Given the description of an element on the screen output the (x, y) to click on. 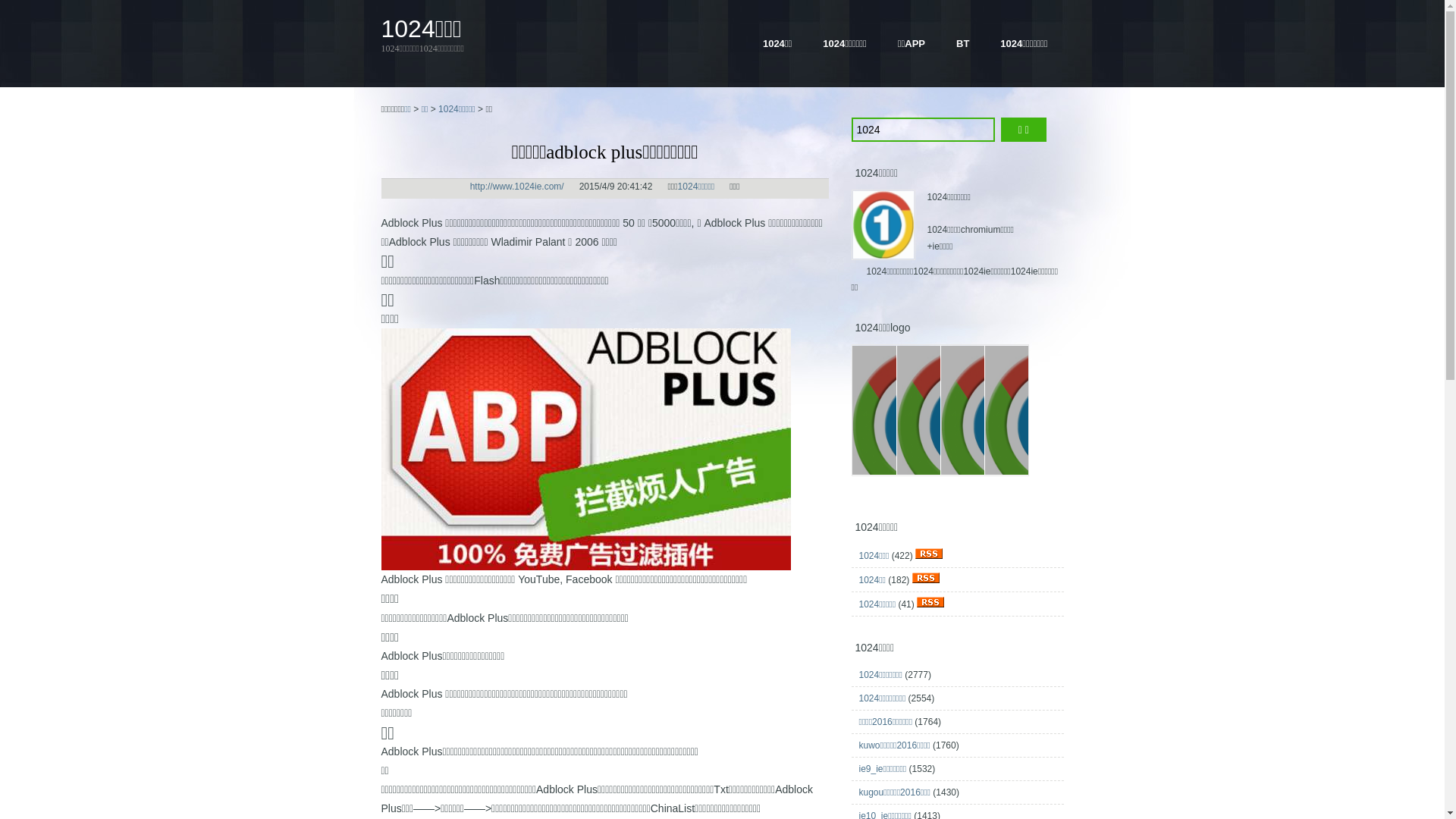
http://www.1024ie.com/ Element type: text (517, 186)
BT Element type: text (962, 43)
